Given the description of an element on the screen output the (x, y) to click on. 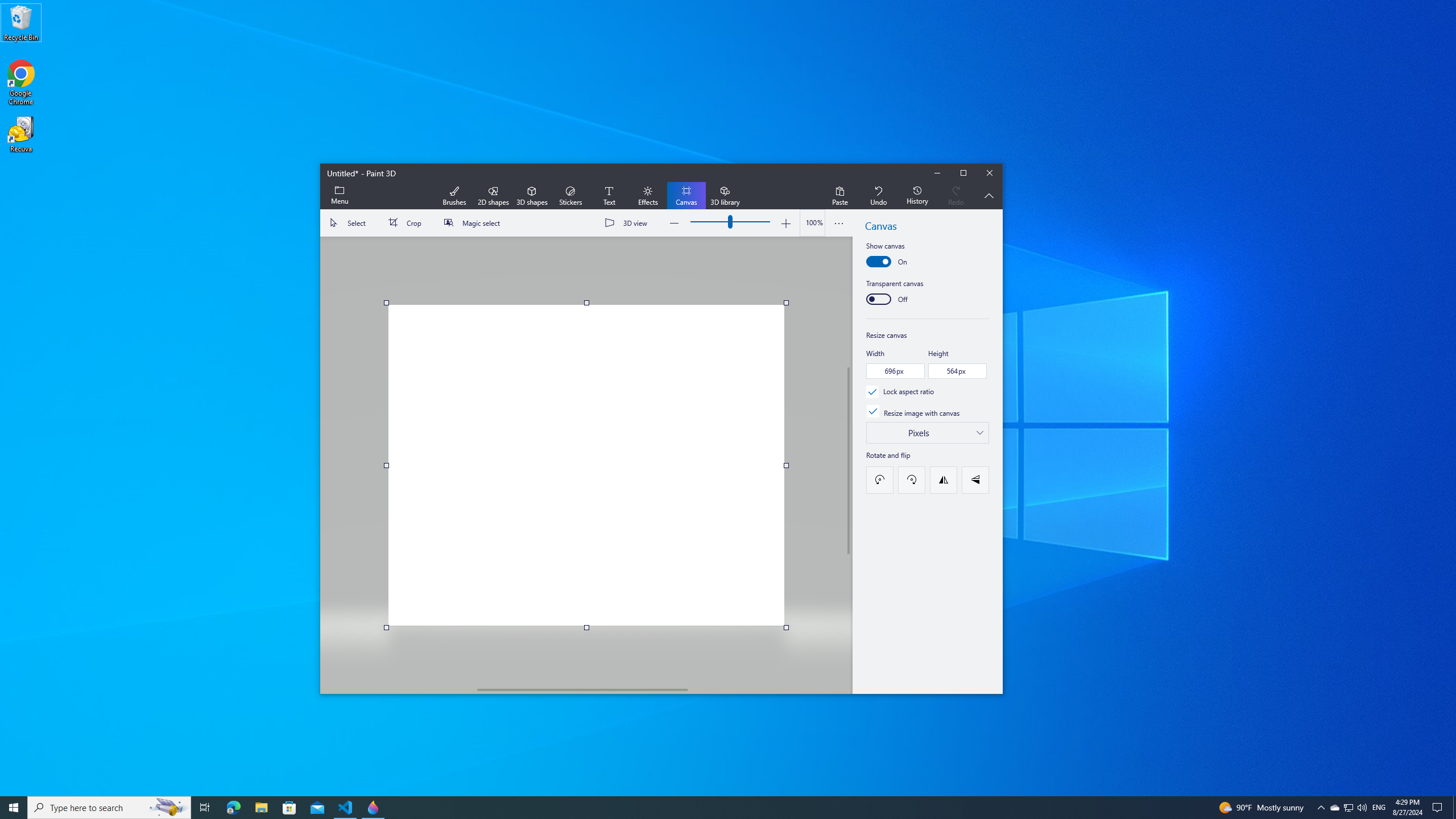
Search highlights icon opens search home window (167, 807)
File Explorer (261, 807)
Notification Chevron (1320, 807)
Action Center, No new notifications (1439, 807)
Tray Input Indicator - English (United States) (1378, 807)
Recuva (21, 133)
Running applications (706, 807)
Recycle Bin (21, 22)
Visual Studio Code - 1 running window (345, 807)
Show desktop (1454, 807)
Start (13, 807)
Paint 3D - 1 running window (373, 807)
